Given the description of an element on the screen output the (x, y) to click on. 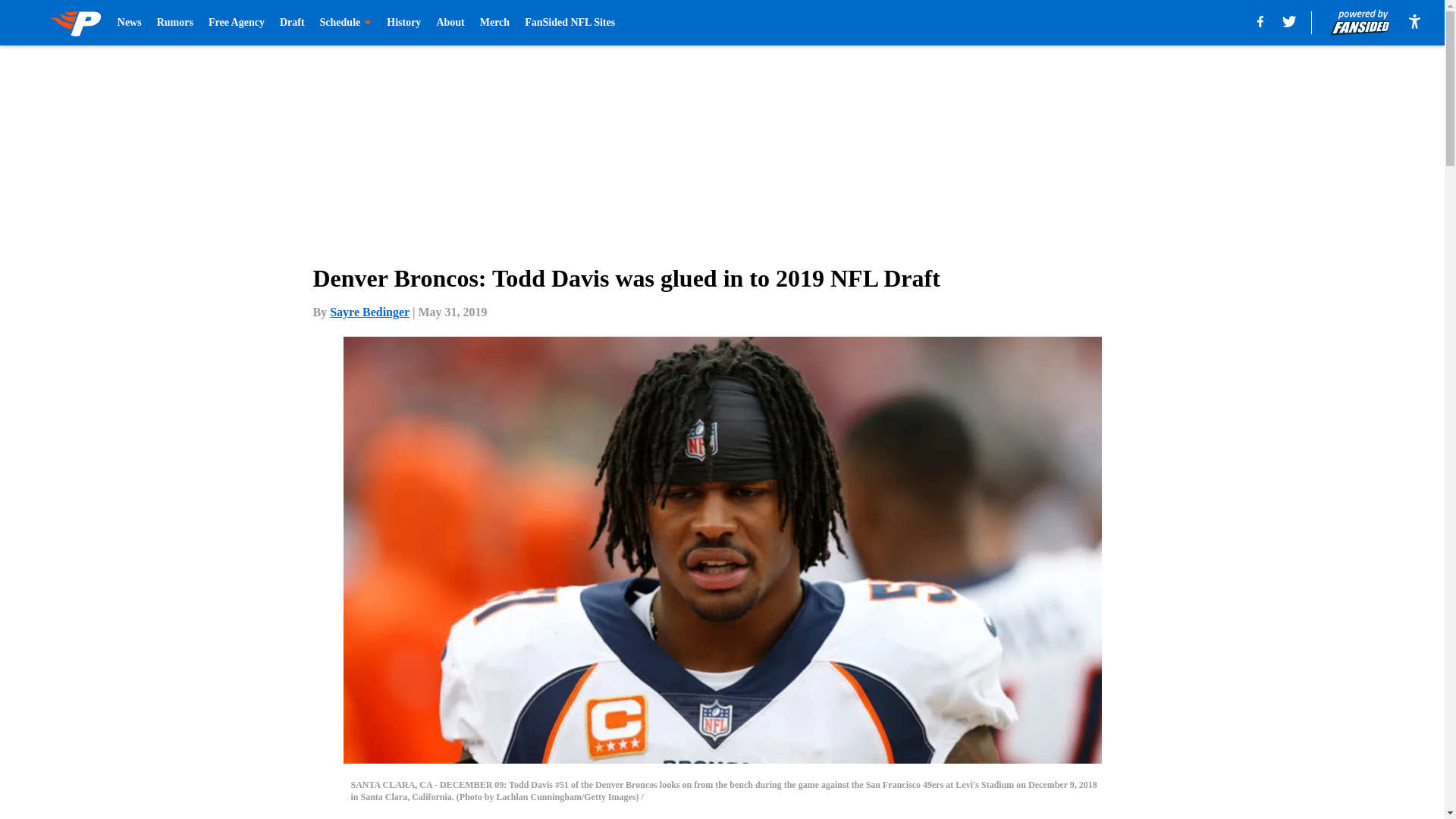
About (449, 22)
Rumors (175, 22)
Draft (291, 22)
FanSided NFL Sites (569, 22)
Free Agency (236, 22)
Sayre Bedinger (369, 311)
History (403, 22)
News (129, 22)
Merch (494, 22)
